Given the description of an element on the screen output the (x, y) to click on. 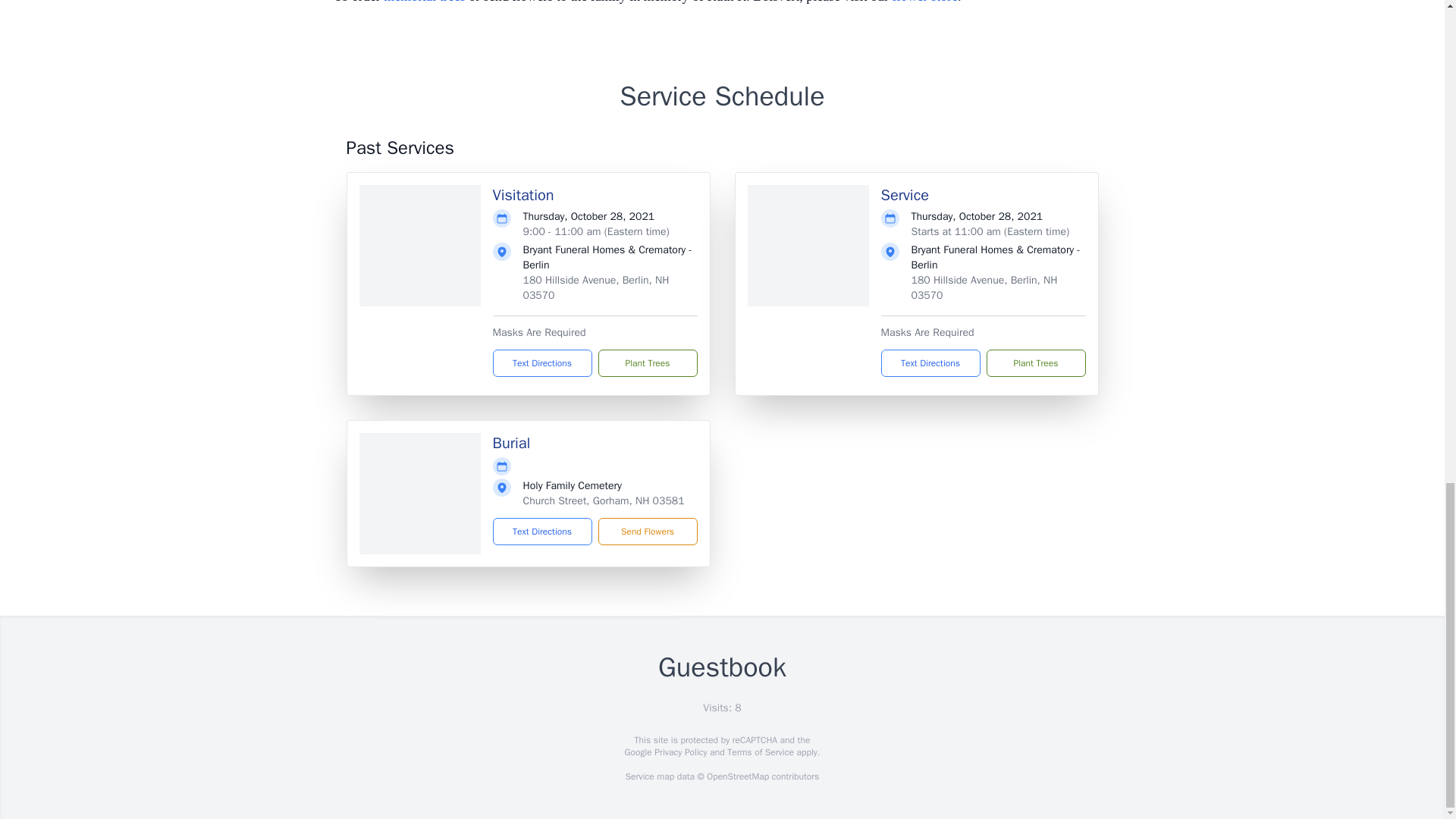
Text Directions (542, 362)
Terms of Service (759, 752)
Plant Trees (1034, 362)
Text Directions (542, 531)
flower store (925, 2)
Send Flowers (646, 531)
memorial trees (424, 2)
Text Directions (929, 362)
Church Street, Gorham, NH 03581 (603, 500)
OpenStreetMap (737, 776)
